Given the description of an element on the screen output the (x, y) to click on. 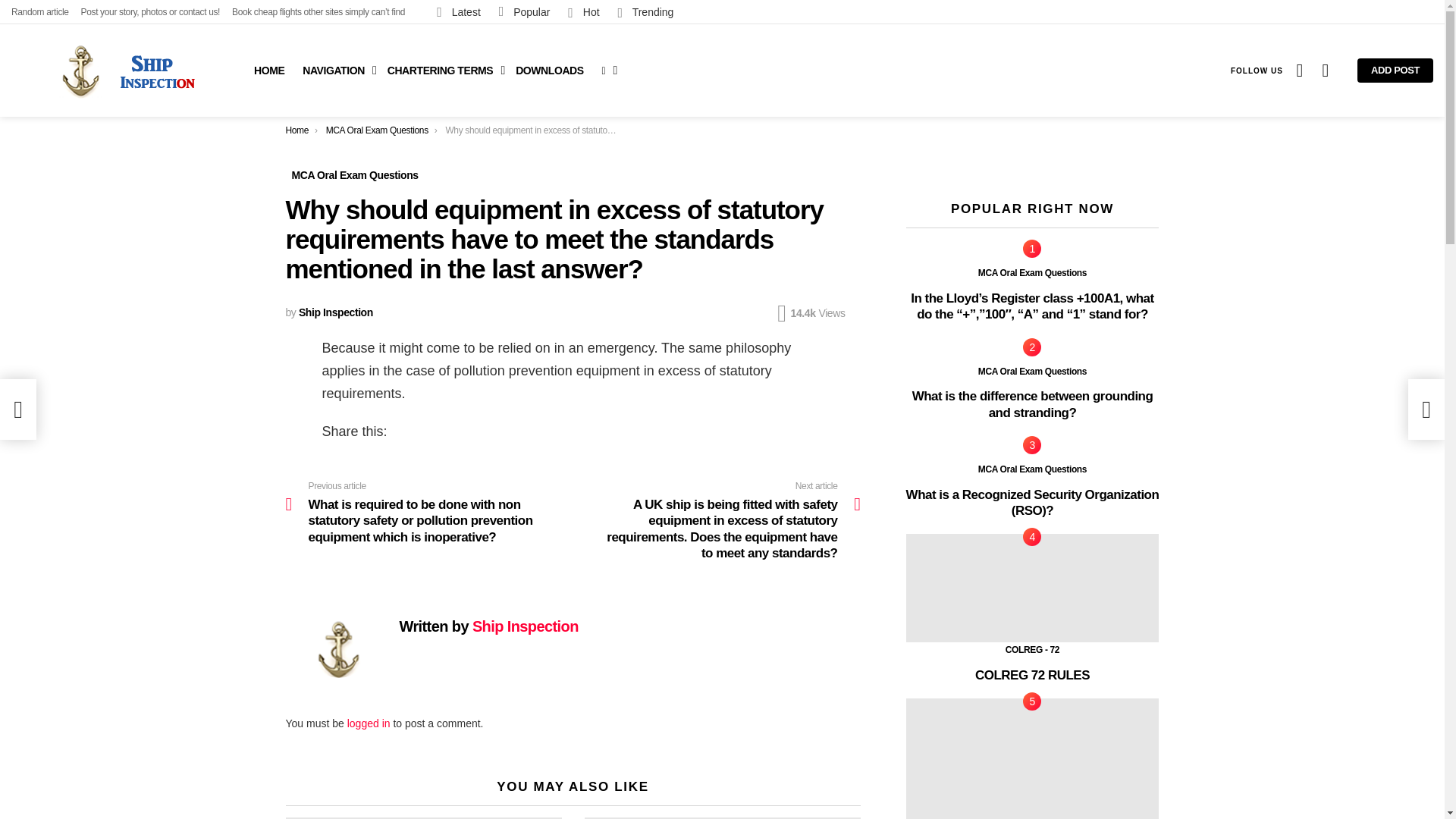
CHARTERING TERMS (442, 69)
Follow us (1256, 69)
Posts by Ship Inspection (335, 312)
NAVIGATION (336, 69)
Popular (524, 11)
Hot (583, 11)
Random article (39, 12)
Post your story, photos or contact us! (151, 12)
Trending (645, 11)
Latest (458, 11)
HOME (269, 69)
